Given the description of an element on the screen output the (x, y) to click on. 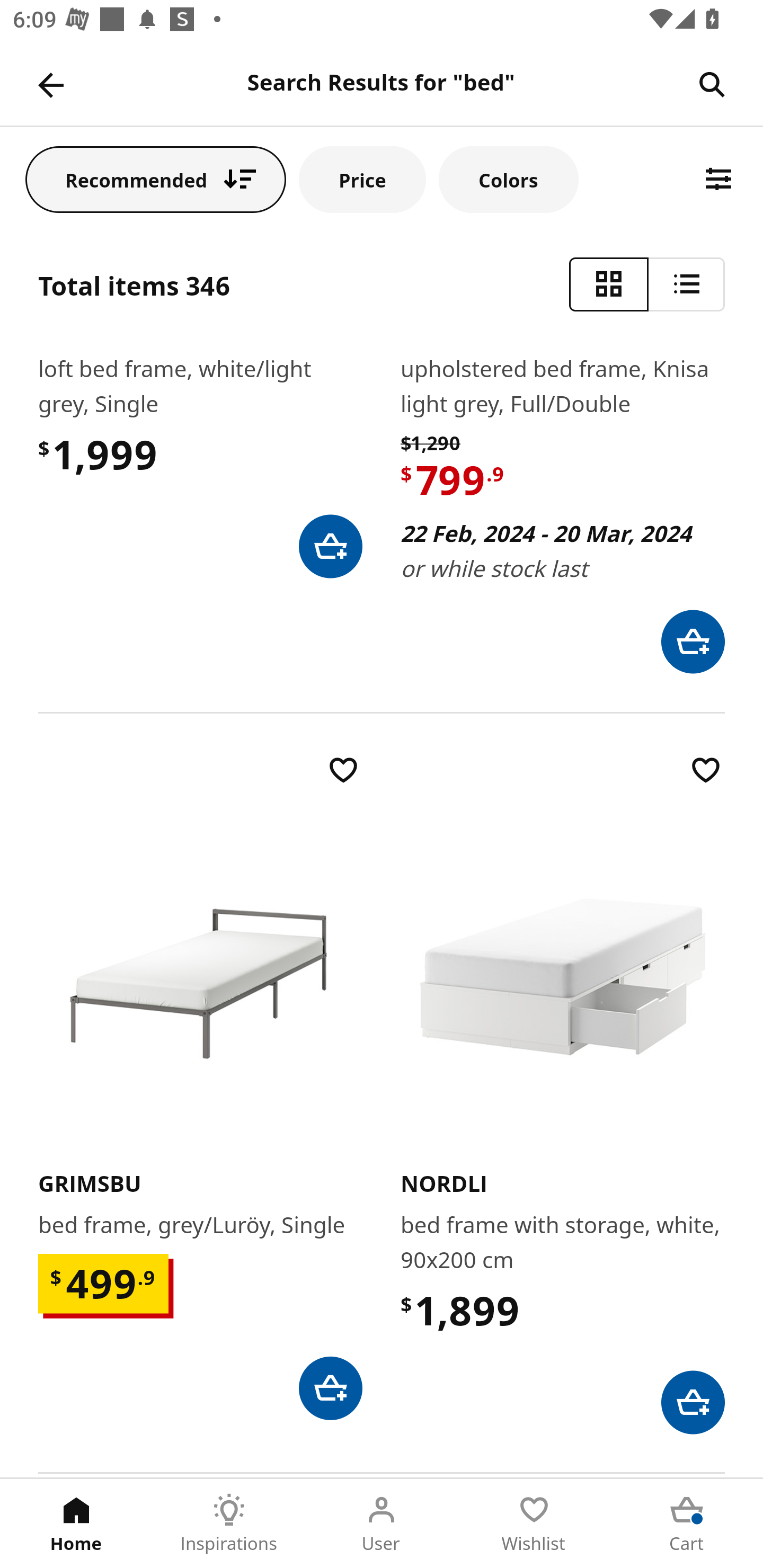
Recommended (155, 179)
Price (362, 179)
Colors (508, 179)
Home
Tab 1 of 5 (76, 1522)
Inspirations
Tab 2 of 5 (228, 1522)
User
Tab 3 of 5 (381, 1522)
Wishlist
Tab 4 of 5 (533, 1522)
Cart
Tab 5 of 5 (686, 1522)
